Given the description of an element on the screen output the (x, y) to click on. 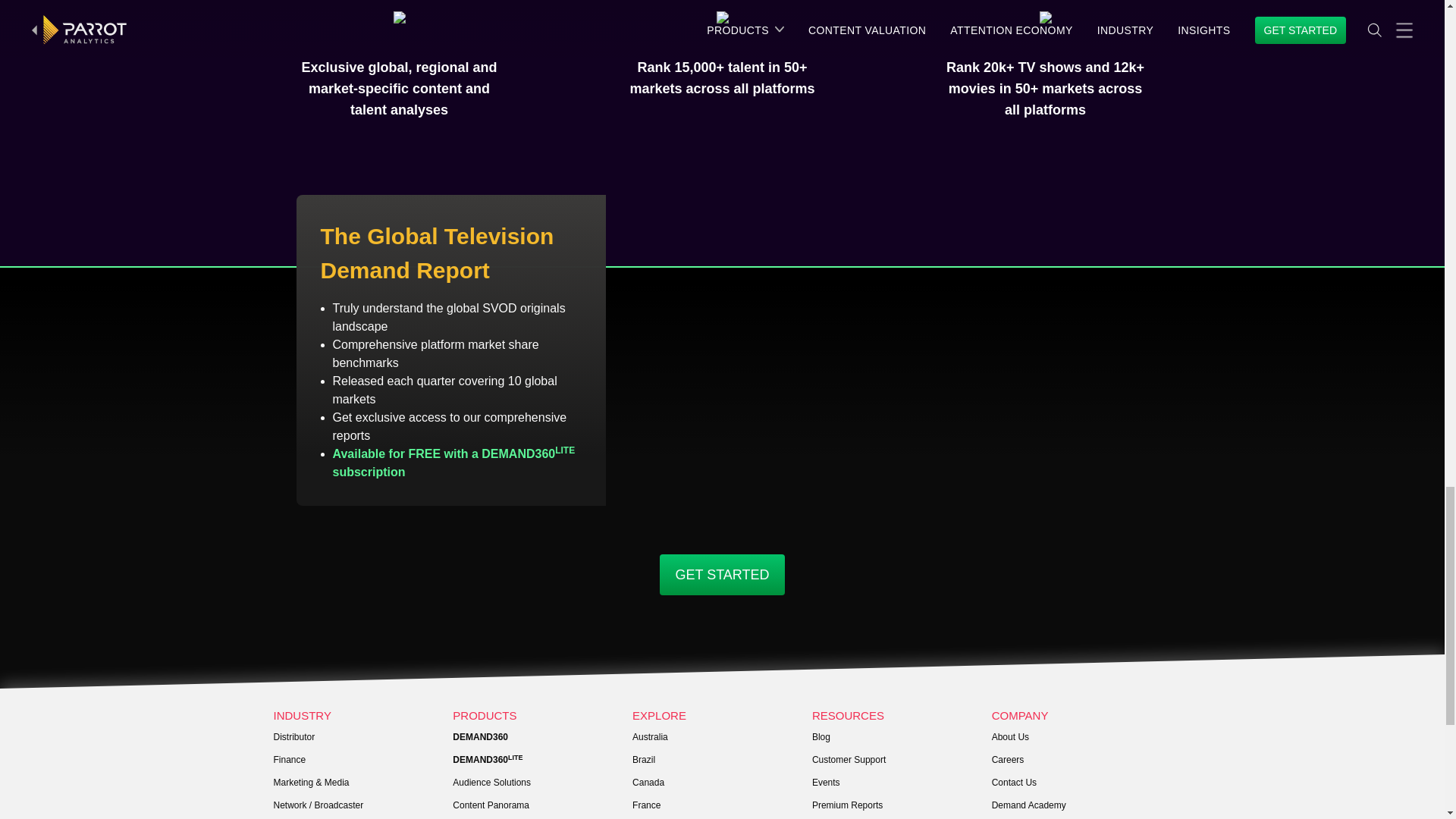
DEMAND360LITE (541, 759)
Australia (721, 736)
INDUSTRY (362, 715)
GET STARTED (721, 574)
Content Panorama (541, 804)
DEMAND360 (541, 736)
Audience Solutions (541, 782)
Finance (362, 759)
Brazil (721, 759)
Distributor (362, 736)
